Given the description of an element on the screen output the (x, y) to click on. 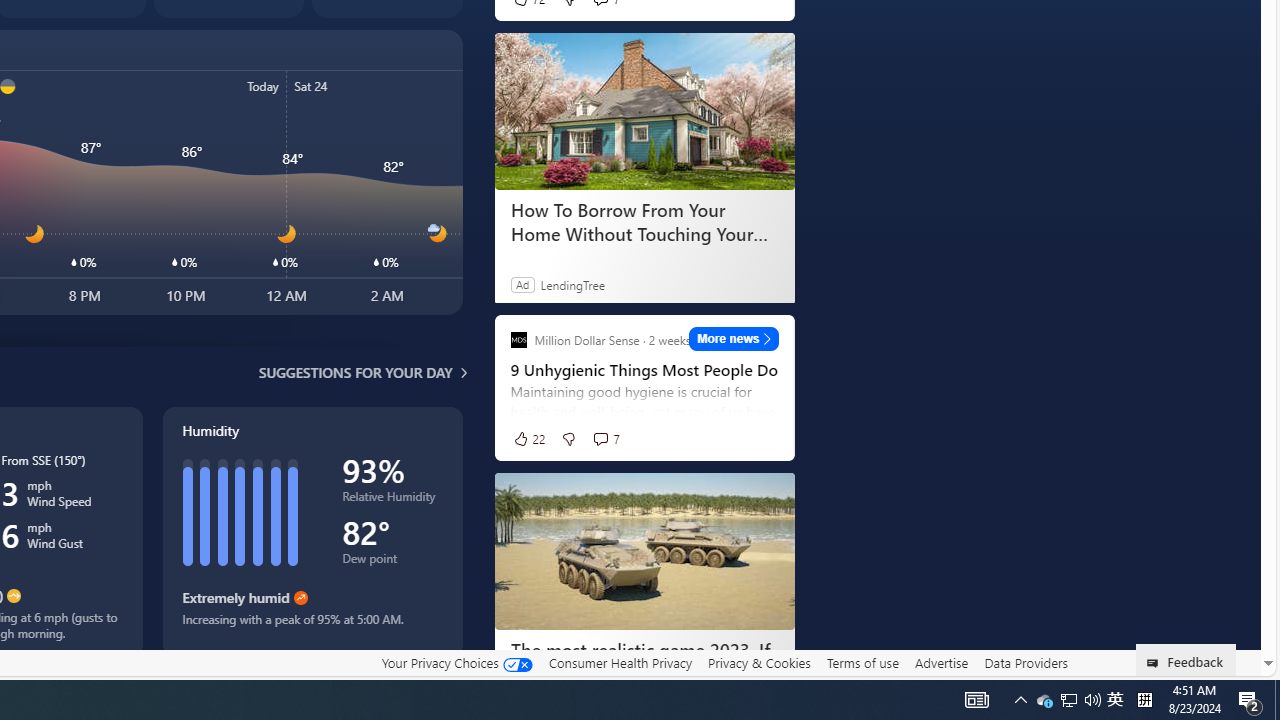
Consumer Health Privacy (619, 663)
Your Privacy Choices (456, 662)
Increasing with a peak of 95% at 5:00 AM. (311, 626)
Terms of use (861, 662)
LendingTree (572, 284)
Dew point (391, 562)
Humidity (312, 531)
Suggestions for your day (355, 372)
How To Borrow From Your Home Without Touching Your Mortgage (644, 111)
How To Borrow From Your Home Without Touching Your Mortgage (644, 222)
Privacy & Cookies (759, 662)
